Given the description of an element on the screen output the (x, y) to click on. 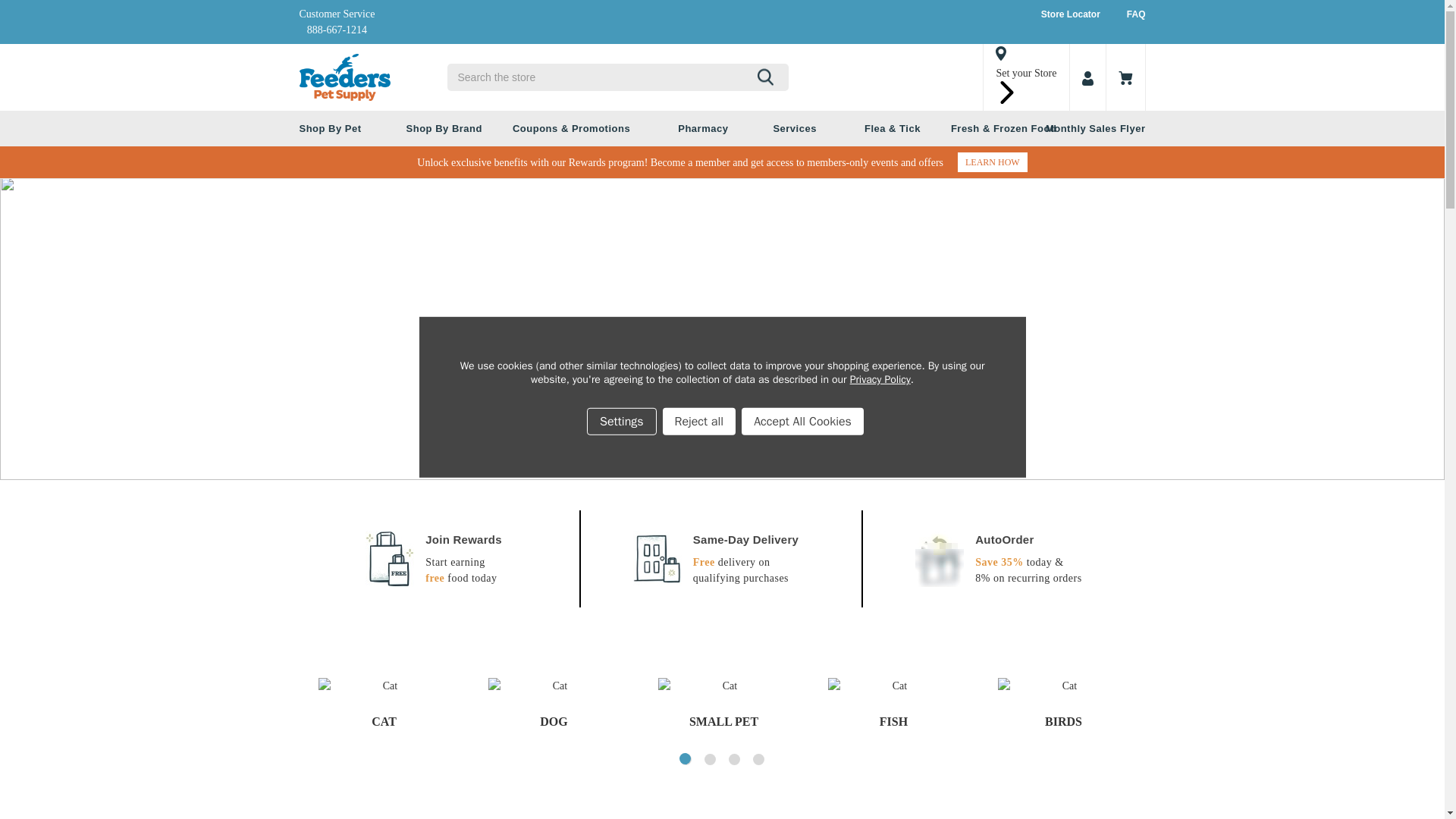
888-667-1214 (336, 30)
Feeders Pet Supply (344, 76)
FAQ (1135, 14)
Shop By Pet (336, 128)
Store Locator (1070, 14)
